Given the description of an element on the screen output the (x, y) to click on. 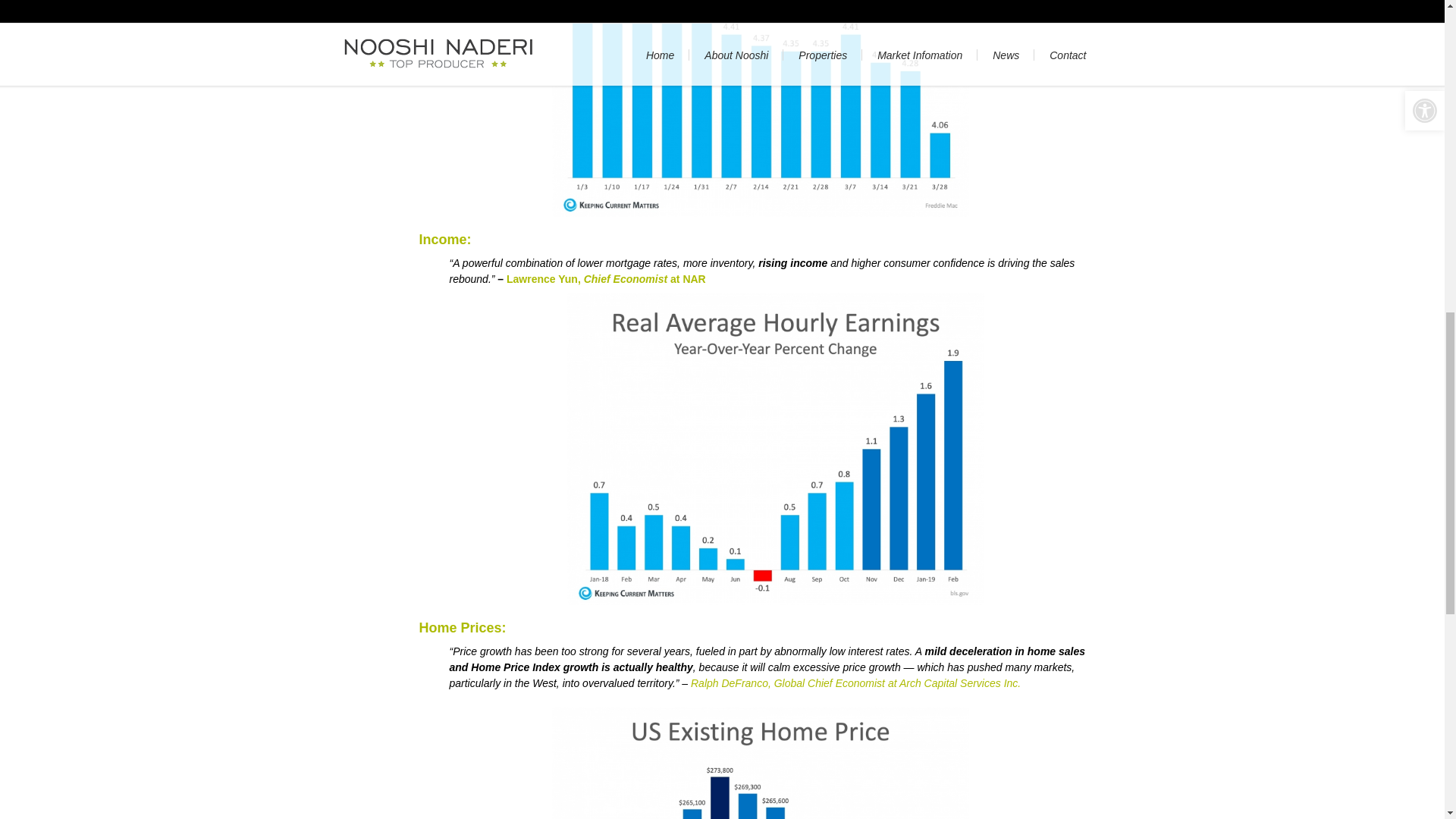
Lawrence Yun, Chief Economist at NAR (606, 278)
